Given the description of an element on the screen output the (x, y) to click on. 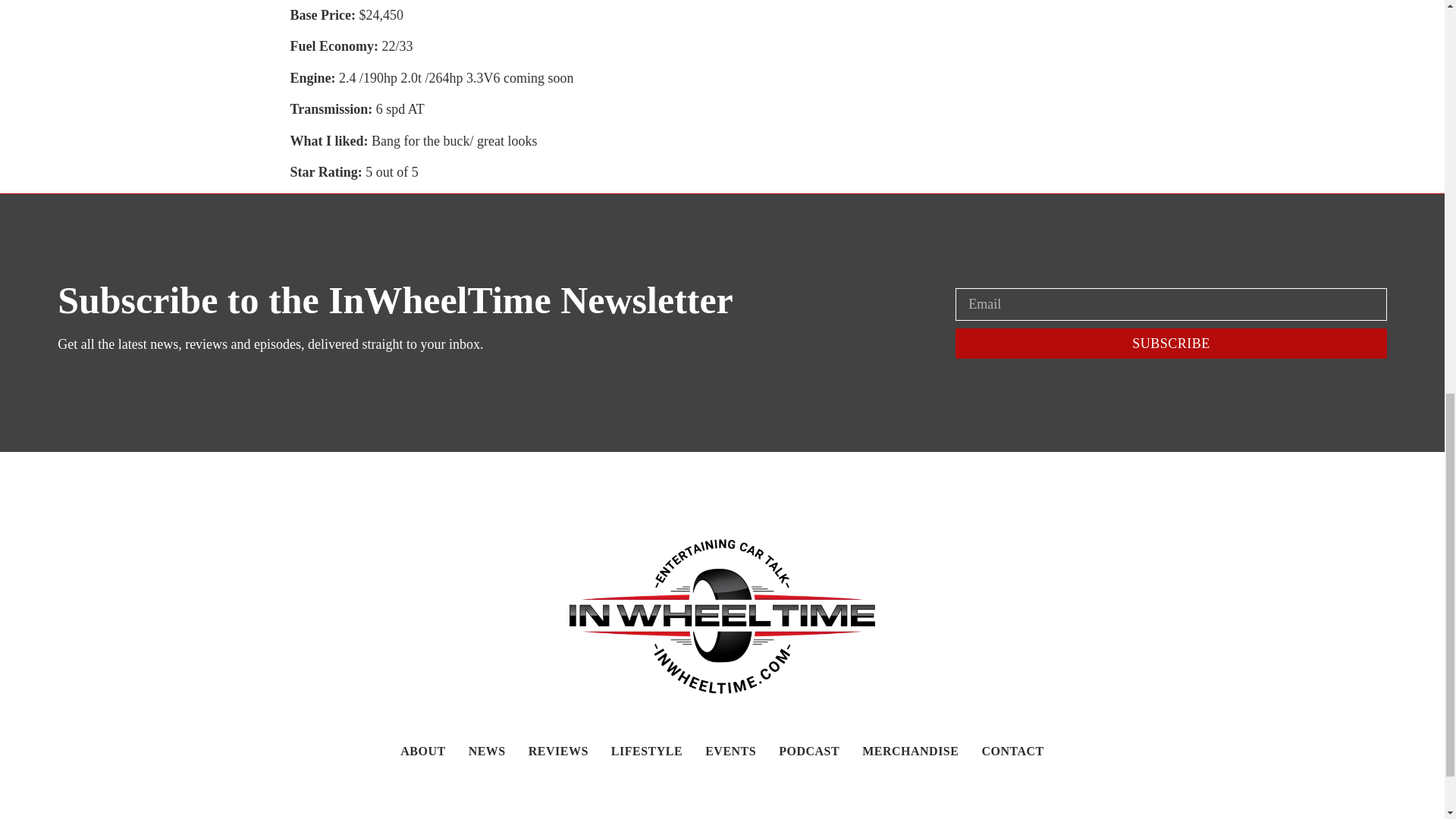
CONTACT (1012, 751)
MERCHANDISE (909, 751)
REVIEWS (558, 751)
SUBSCRIBE (1170, 343)
LIFESTYLE (646, 751)
PODCAST (809, 751)
